Given the description of an element on the screen output the (x, y) to click on. 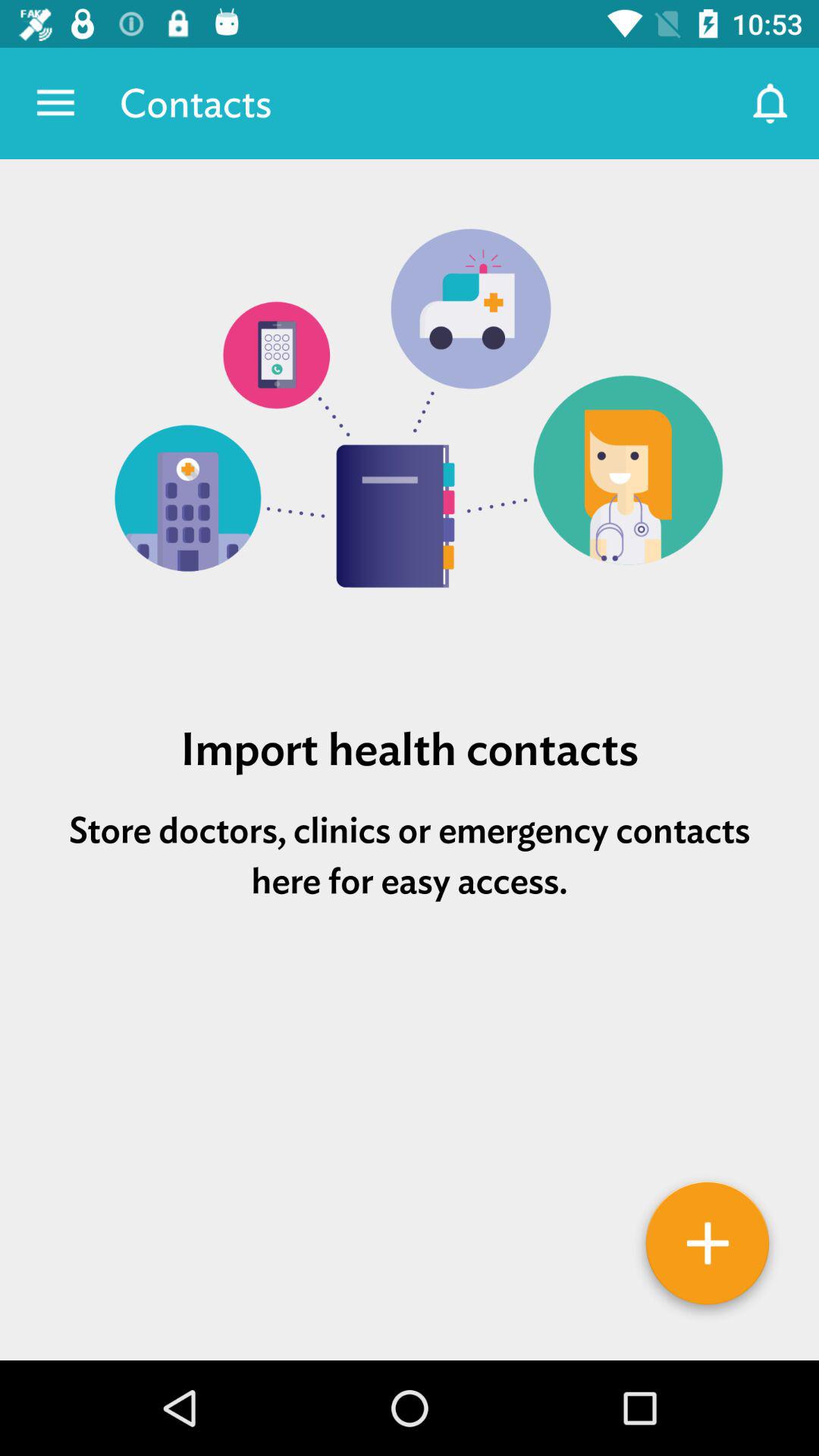
add details option (707, 1248)
